Given the description of an element on the screen output the (x, y) to click on. 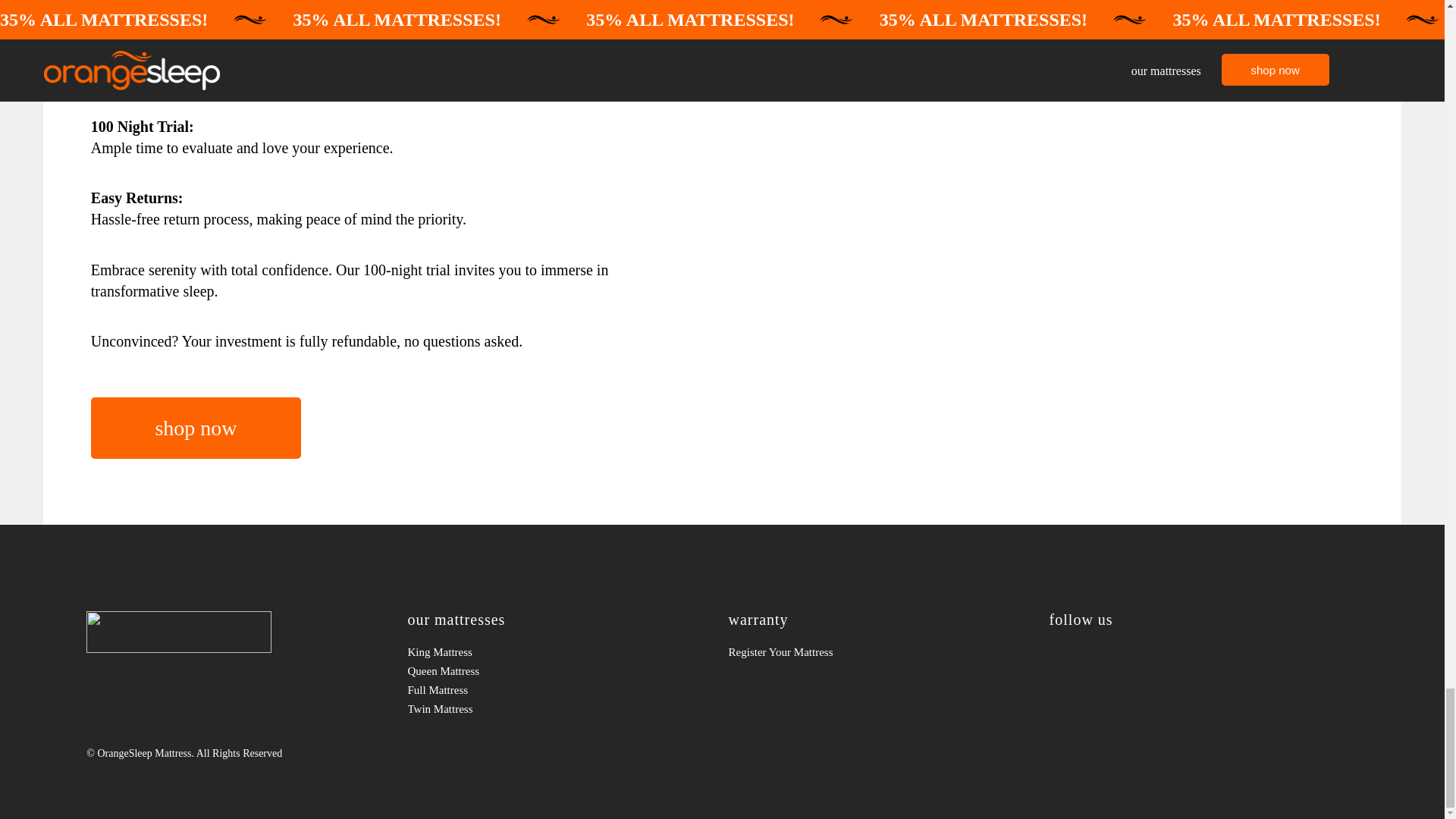
Twin Mattress (561, 709)
shop now (195, 428)
Full Mattress (561, 690)
King Mattress (561, 651)
Queen Mattress (561, 670)
Register Your Mattress (882, 651)
